Given the description of an element on the screen output the (x, y) to click on. 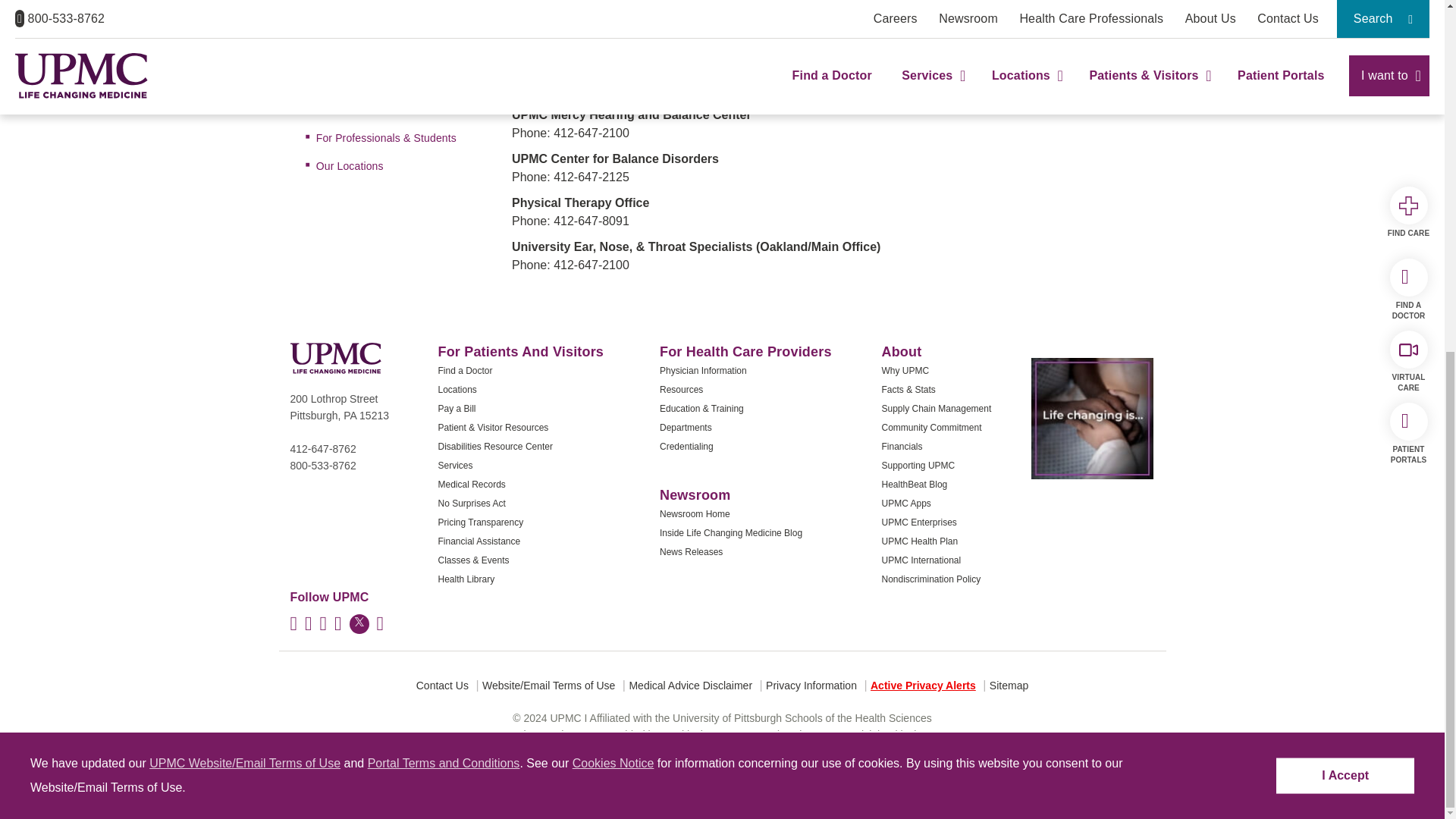
Portal Terms and Conditions (443, 151)
Cookies Notice (612, 151)
I Accept (1344, 164)
